Given the description of an element on the screen output the (x, y) to click on. 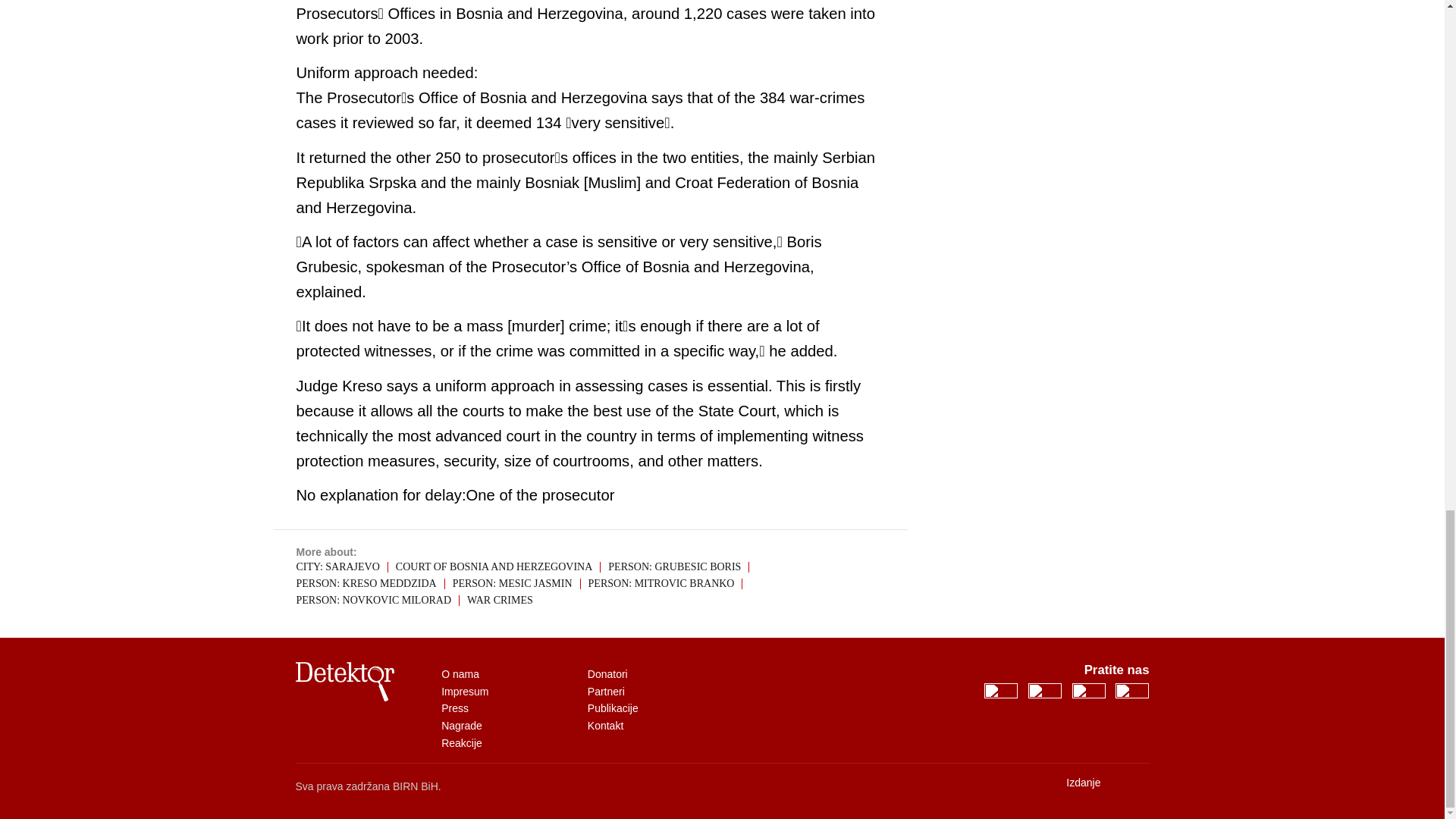
PERSON: MITROVIC BRANKO (1082, 782)
Reakcije (665, 583)
Donatori  (461, 743)
COURT OF BOSNIA AND HERZEGOVINA (609, 674)
PERSON: MESIC JASMIN (497, 566)
WAR CRIMES (516, 583)
Facebook (499, 600)
Publikacije  (996, 694)
PERSON: GRUBESIC BORIS (615, 707)
